Given the description of an element on the screen output the (x, y) to click on. 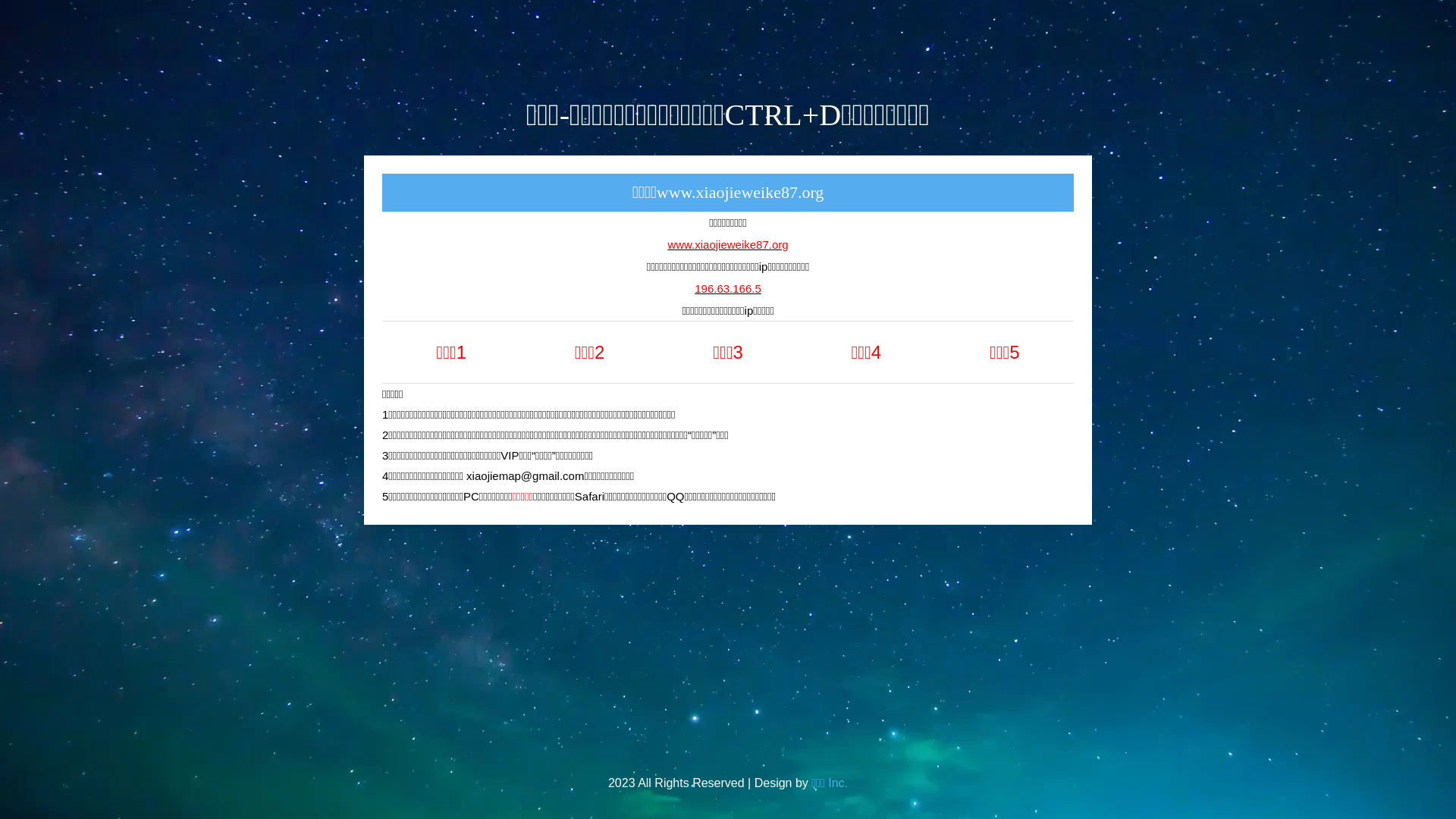
www.xiaojieweike87.org Element type: text (727, 253)
196.63.166.5 Element type: text (727, 306)
